Given the description of an element on the screen output the (x, y) to click on. 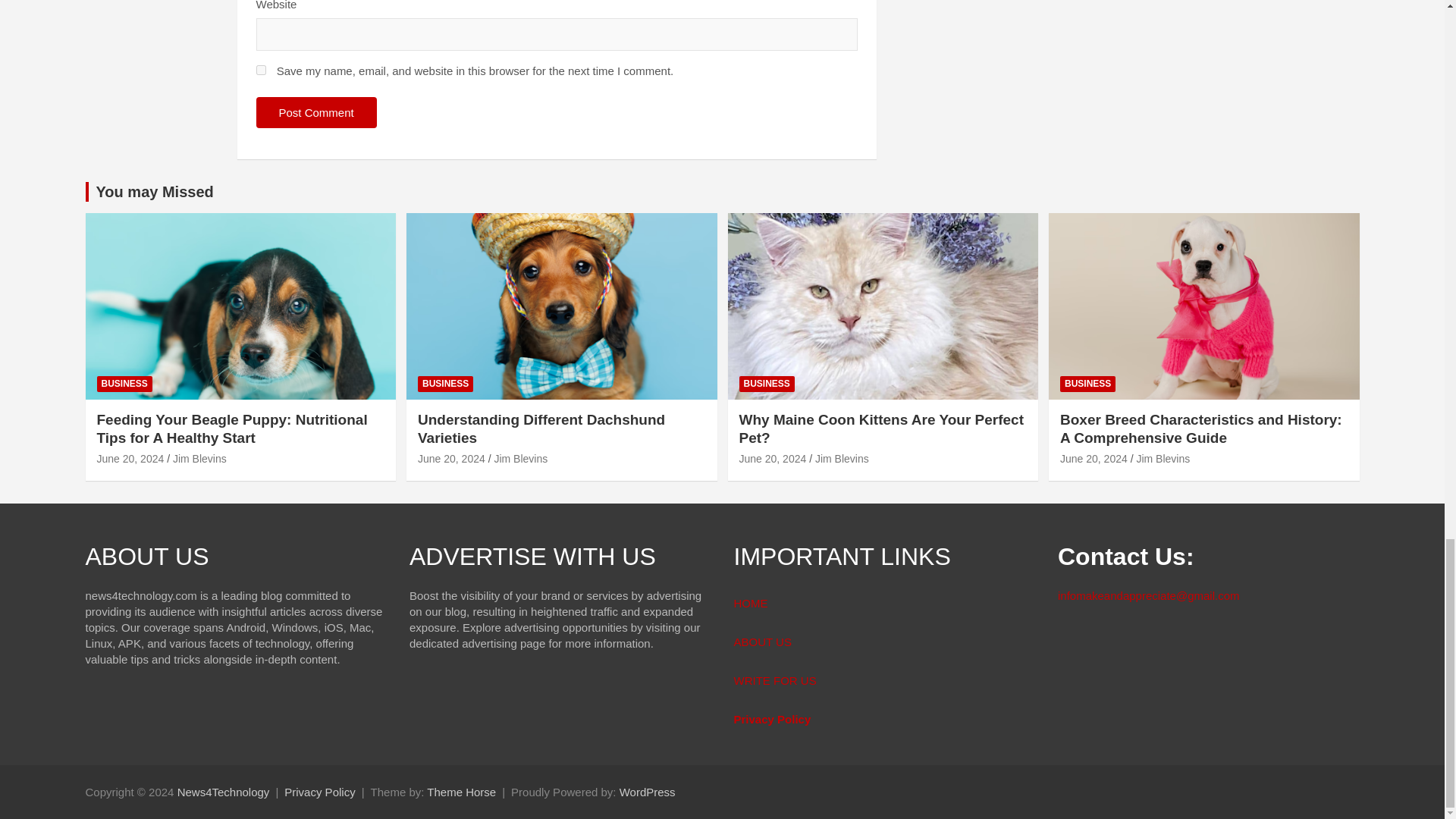
Understanding Different Dachshund Varieties (450, 458)
Post Comment (316, 112)
News4Technology (223, 791)
Post Comment (316, 112)
Why Maine Coon Kittens Are Your Perfect Pet? (772, 458)
yes (261, 70)
WordPress (647, 791)
Theme Horse (461, 791)
